Given the description of an element on the screen output the (x, y) to click on. 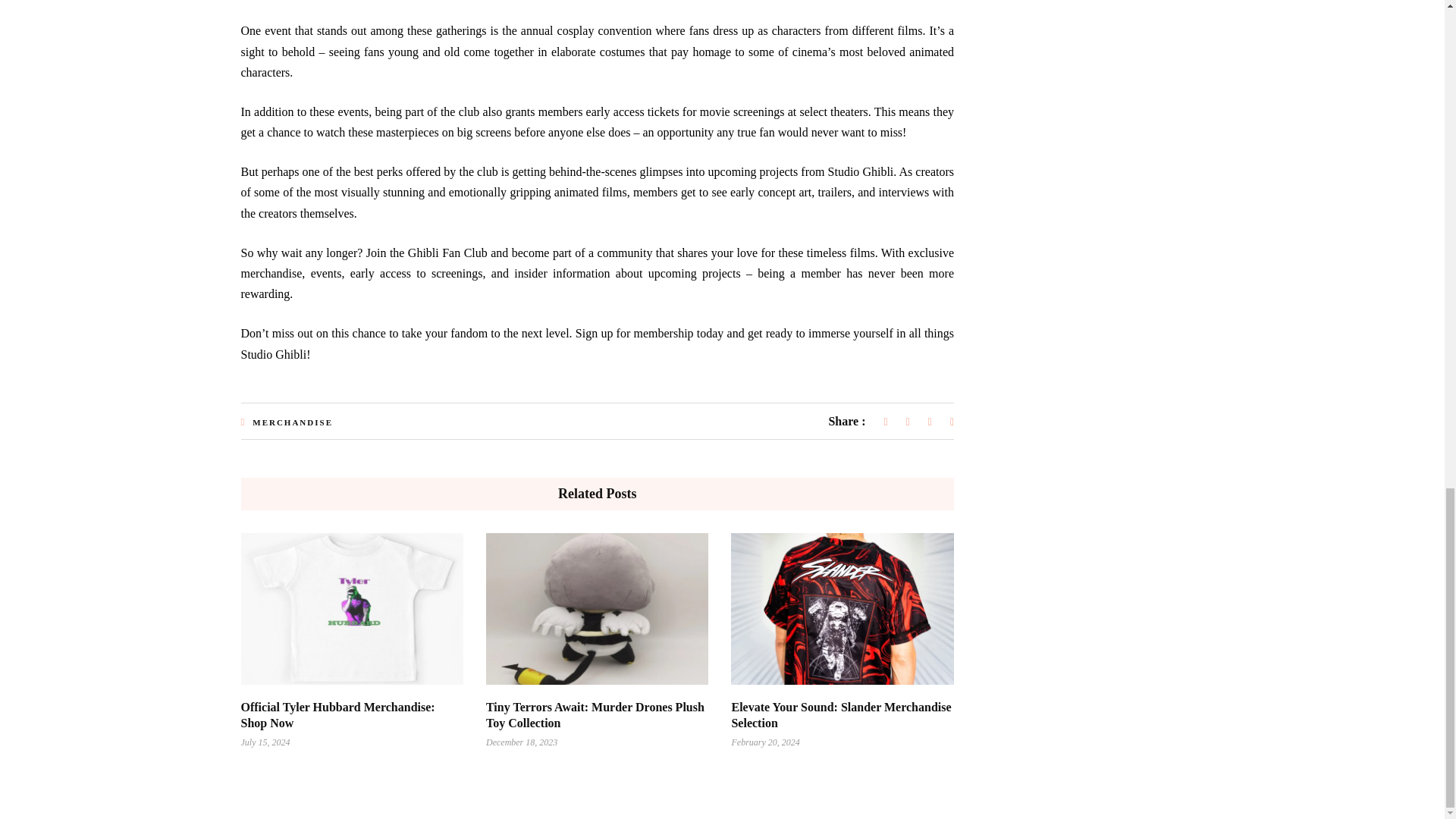
Click to share this post on Twitter (907, 422)
Official Tyler Hubbard Merchandise: Shop Now (338, 715)
Tiny Terrors Await: Murder Drones Plush Toy Collection (595, 715)
Elevate Your Sound: Slander Merchandise Selection (840, 715)
MERCHANDISE (292, 421)
